Given the description of an element on the screen output the (x, y) to click on. 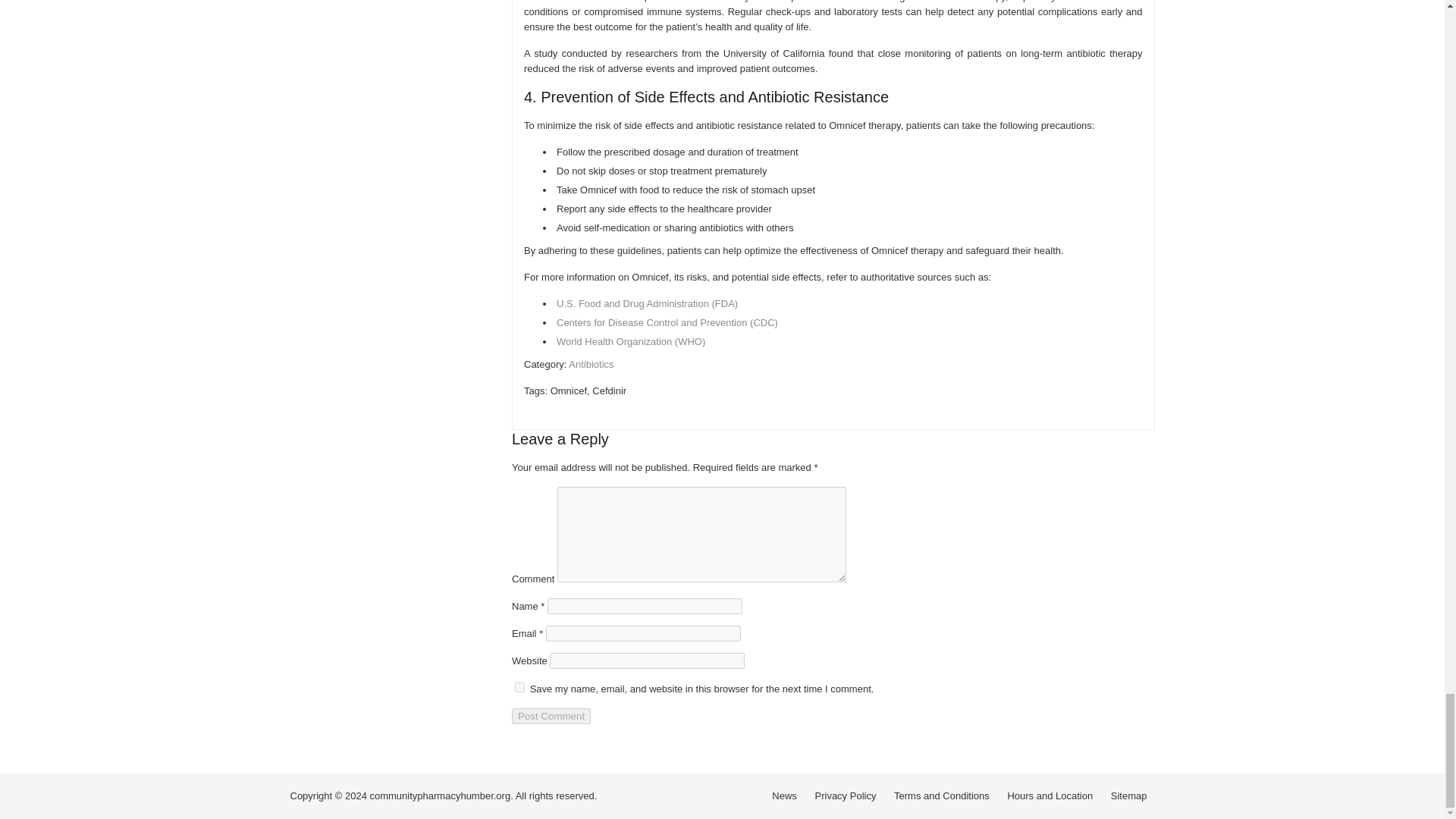
yes (519, 687)
Post Comment (551, 715)
Antibiotics (590, 364)
Post Comment (551, 715)
